Given the description of an element on the screen output the (x, y) to click on. 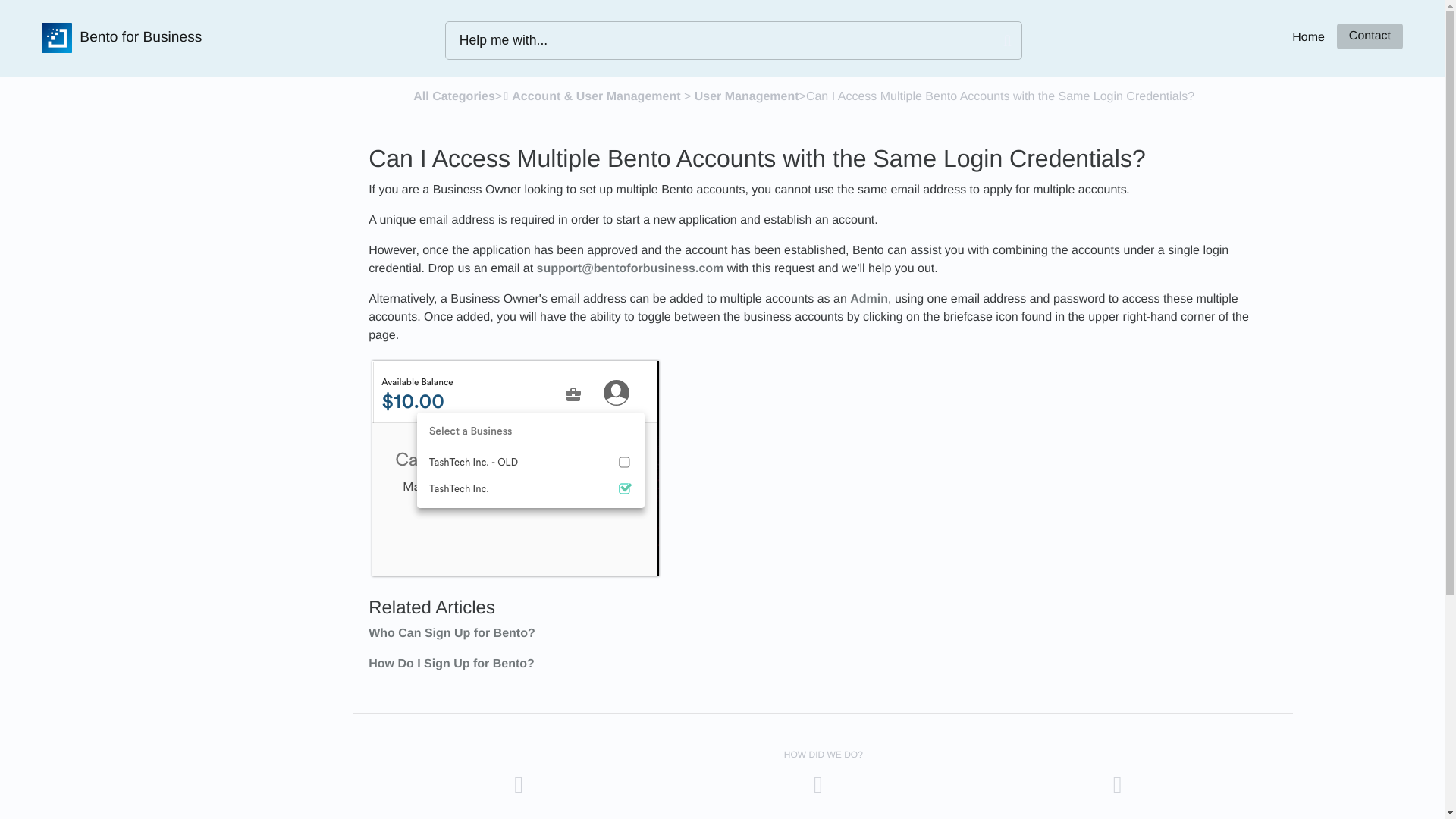
Contact (1369, 36)
Bento for Business (122, 37)
Home (1308, 37)
